Given the description of an element on the screen output the (x, y) to click on. 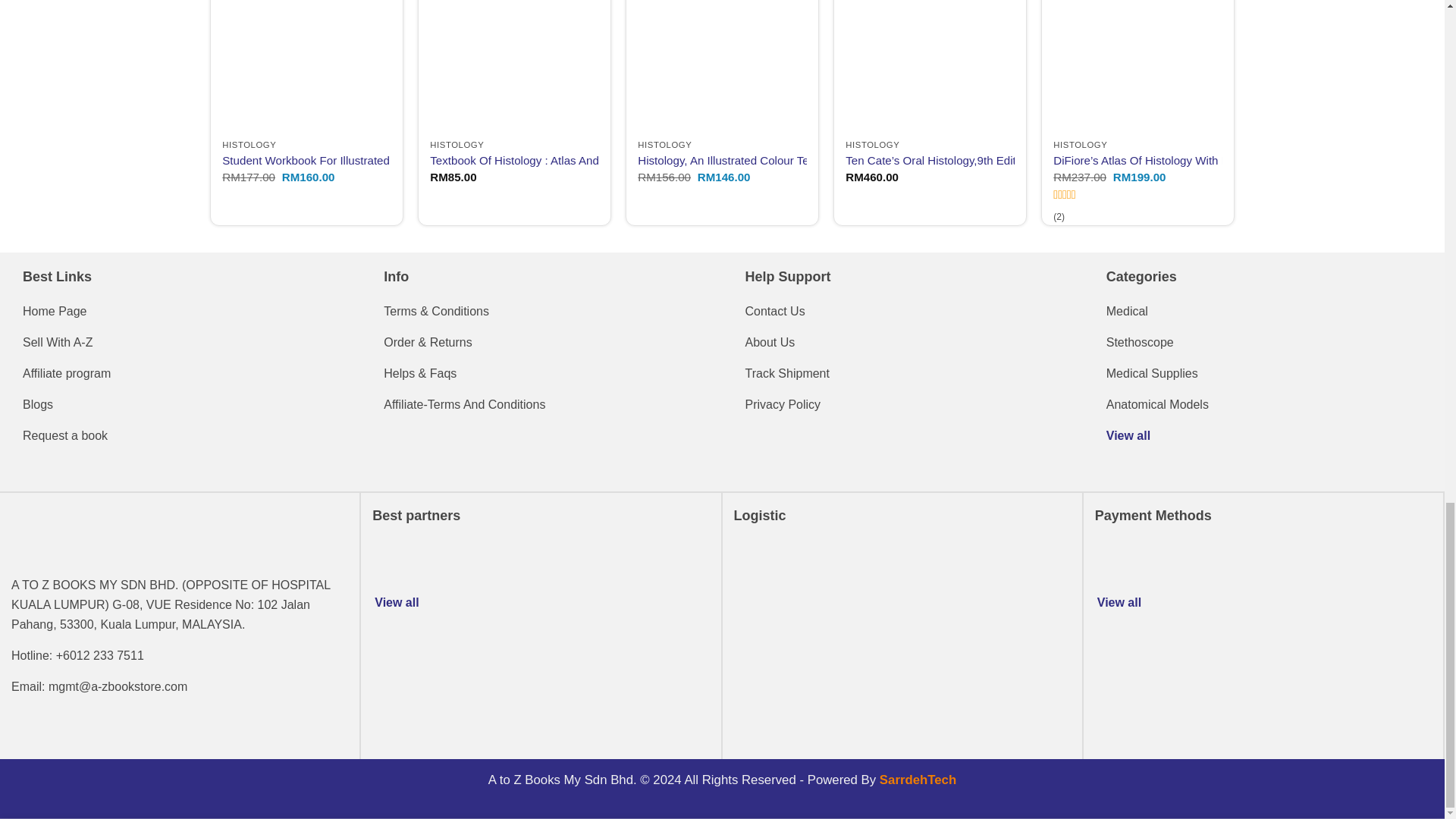
9780443068539 - A-Z Bookstore (721, 65)
9781455776450 - A-Z Bookstore (306, 65)
9781496310231 - A-Z Bookstore (1136, 65)
9789380704340 - A-Z Bookstore (1344, 65)
9780323485241 - A-Z Bookstore (929, 65)
9788131255704 - A-Z Bookstore (513, 65)
